Given the description of an element on the screen output the (x, y) to click on. 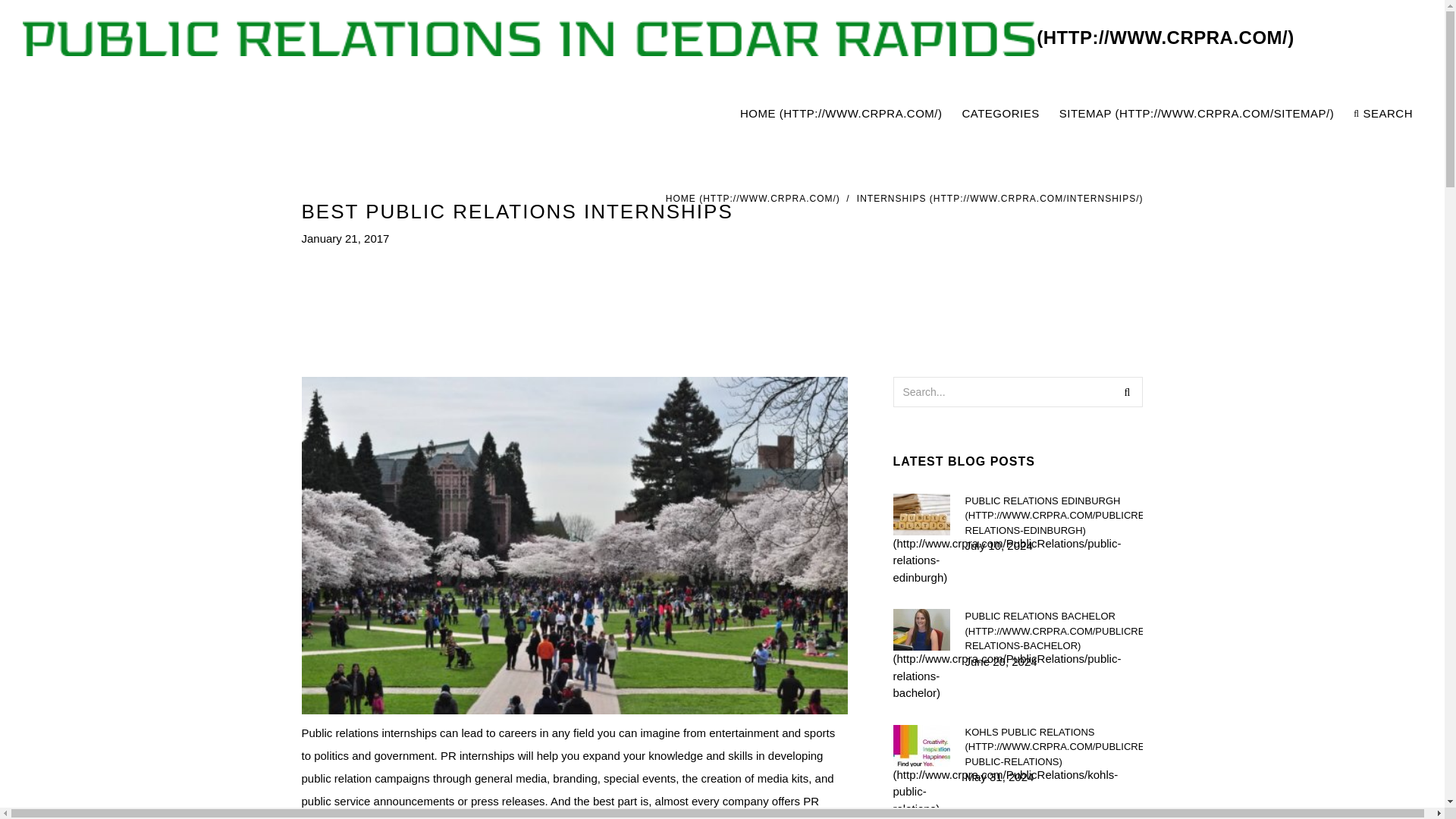
PUBLIC RELATIONS EDINBURGH (1052, 515)
CATEGORIES (1000, 113)
HOME (752, 198)
PUBLIC RELATIONS BACHELOR (1052, 631)
Public Relations in Cedar Rapids, Iowa (658, 38)
KOHLS PUBLIC RELATIONS (1052, 746)
Search in blog (1126, 390)
SEARCH (1382, 113)
HOME (840, 113)
SITEMAP (1196, 113)
INTERNSHIPS (999, 198)
